Given the description of an element on the screen output the (x, y) to click on. 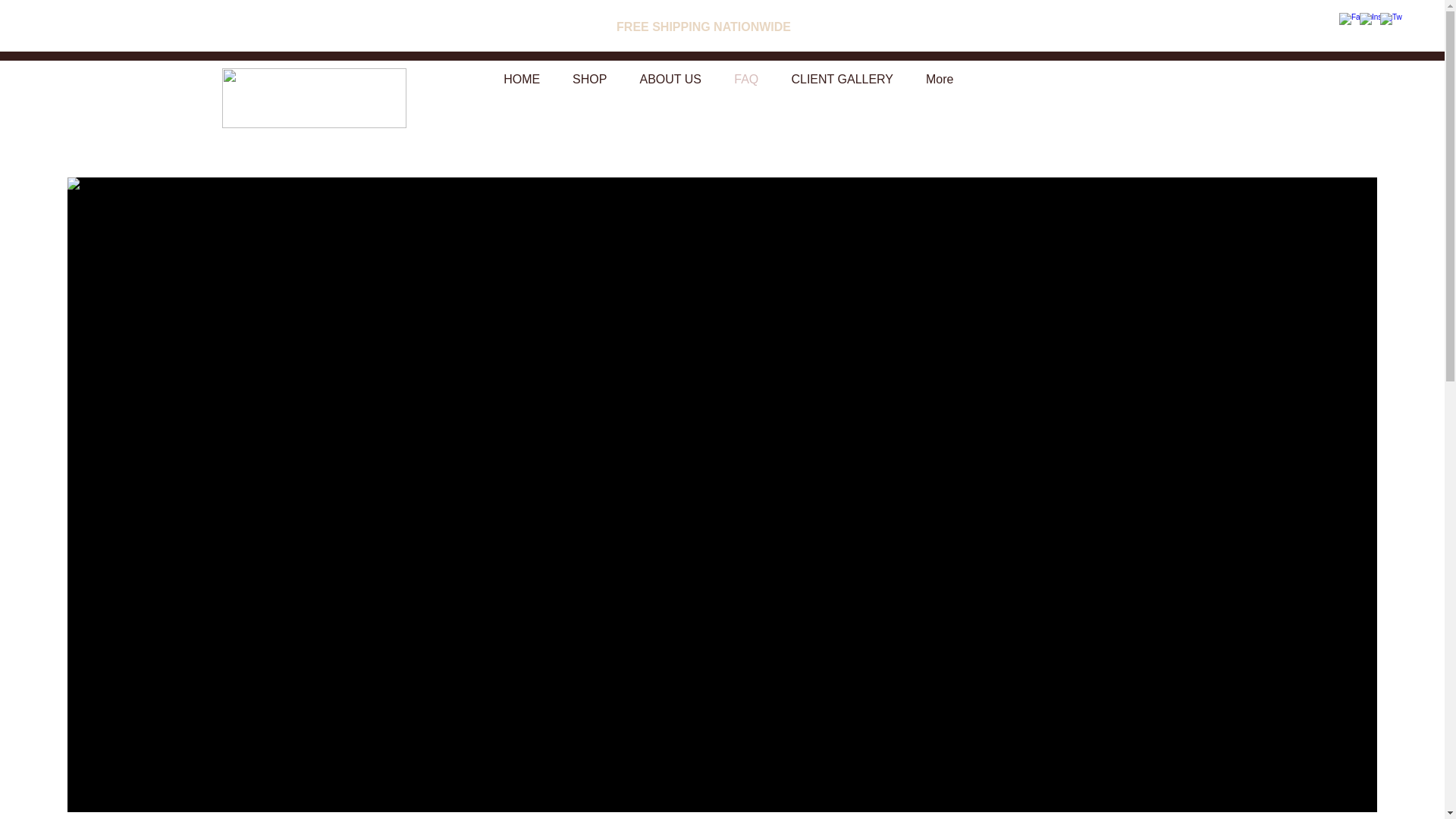
FAQ (745, 79)
SHOP (589, 79)
ABOUT US (670, 79)
CLIENT GALLERY (842, 79)
Log In (1357, 79)
HOME (521, 79)
